Given the description of an element on the screen output the (x, y) to click on. 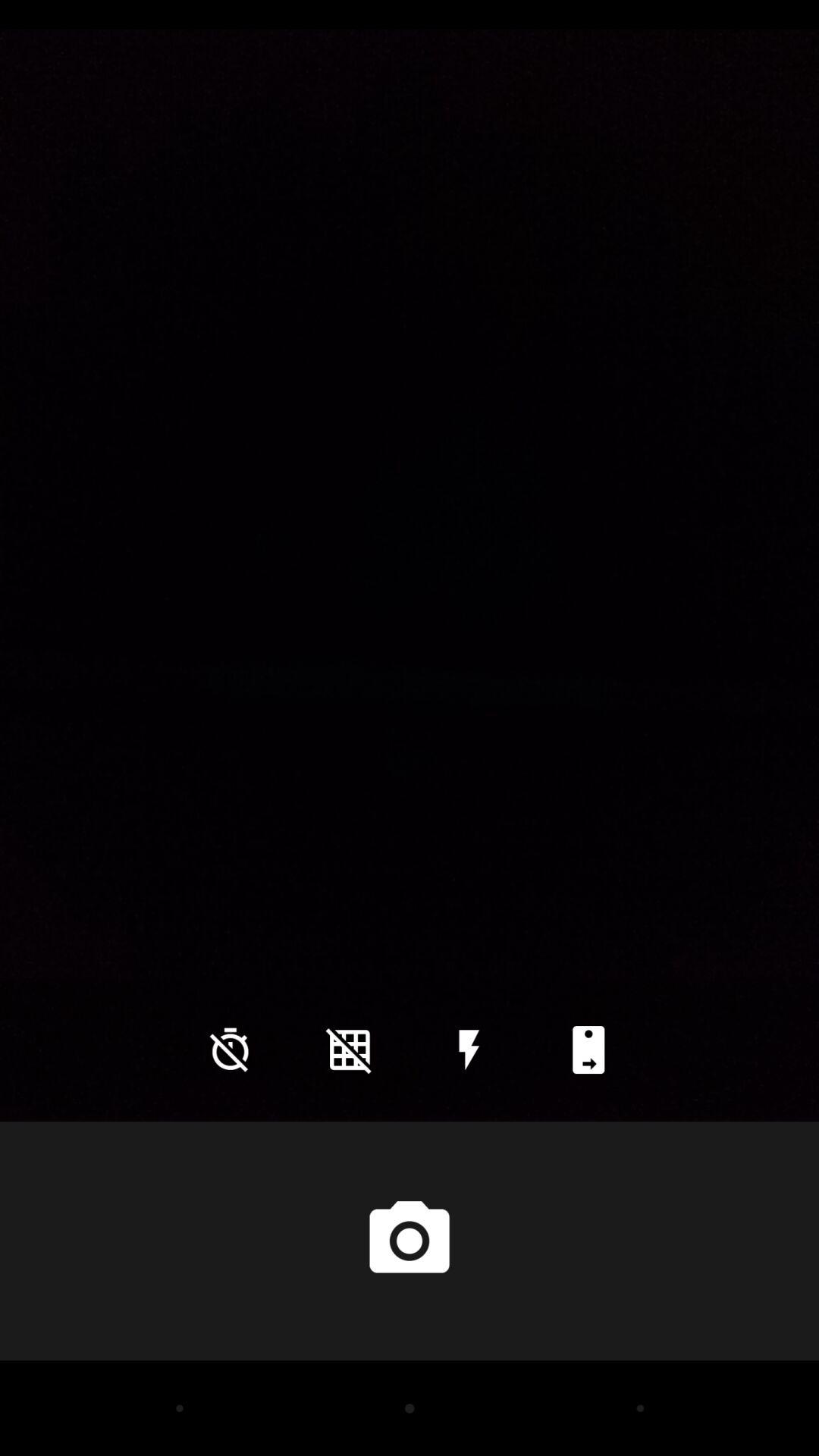
turn off the icon at the bottom right corner (588, 1049)
